Given the description of an element on the screen output the (x, y) to click on. 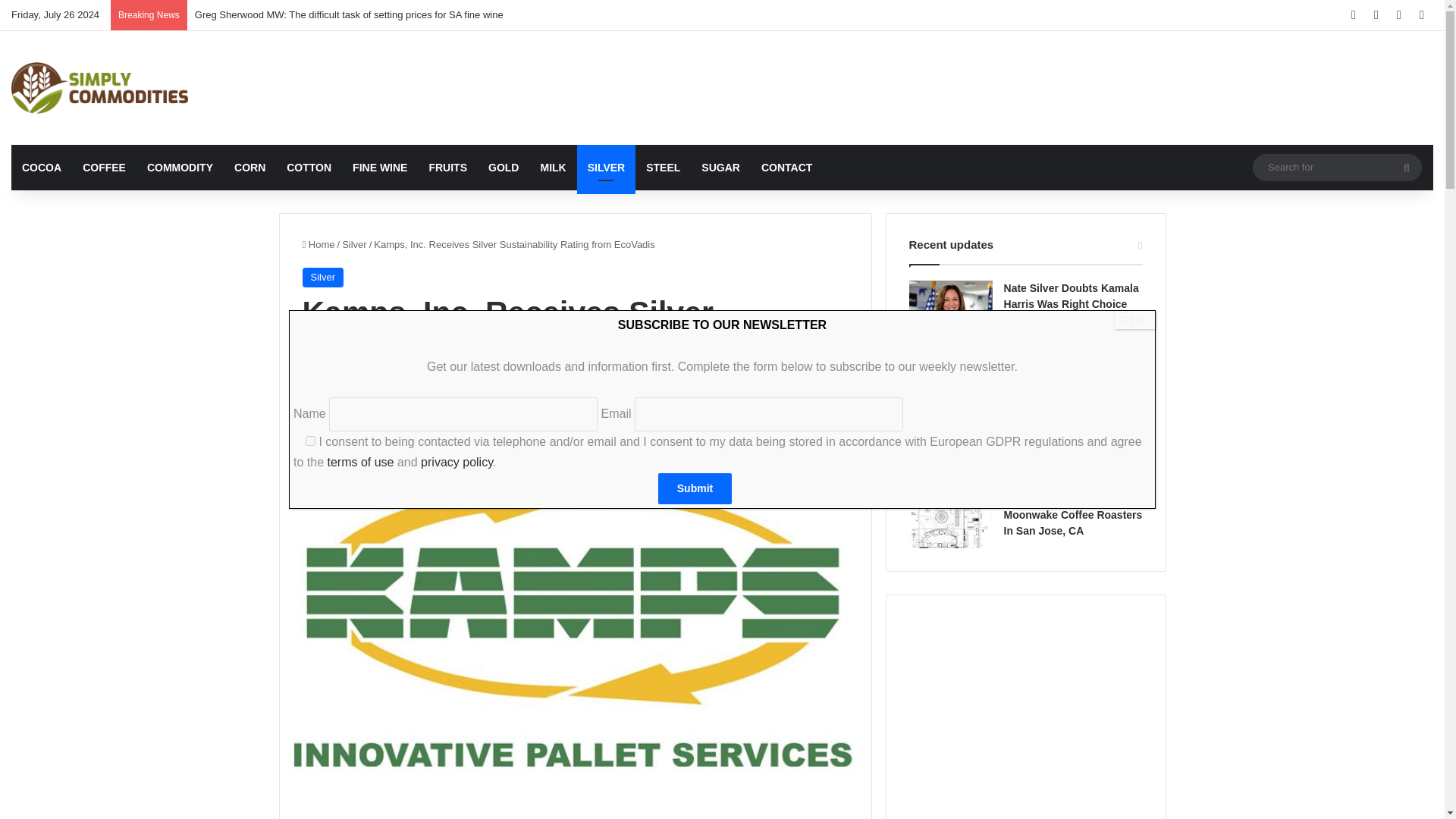
COTTON (309, 167)
Submit (695, 488)
Search for (1406, 166)
MILK (552, 167)
Search for (1337, 167)
Silver (354, 244)
SUGAR (720, 167)
CONTACT (786, 167)
STEEL (662, 167)
FRUITS (447, 167)
COMMODITY (180, 167)
Advertisement (963, 79)
FINE WINE (379, 167)
COCOA (41, 167)
